Given the description of an element on the screen output the (x, y) to click on. 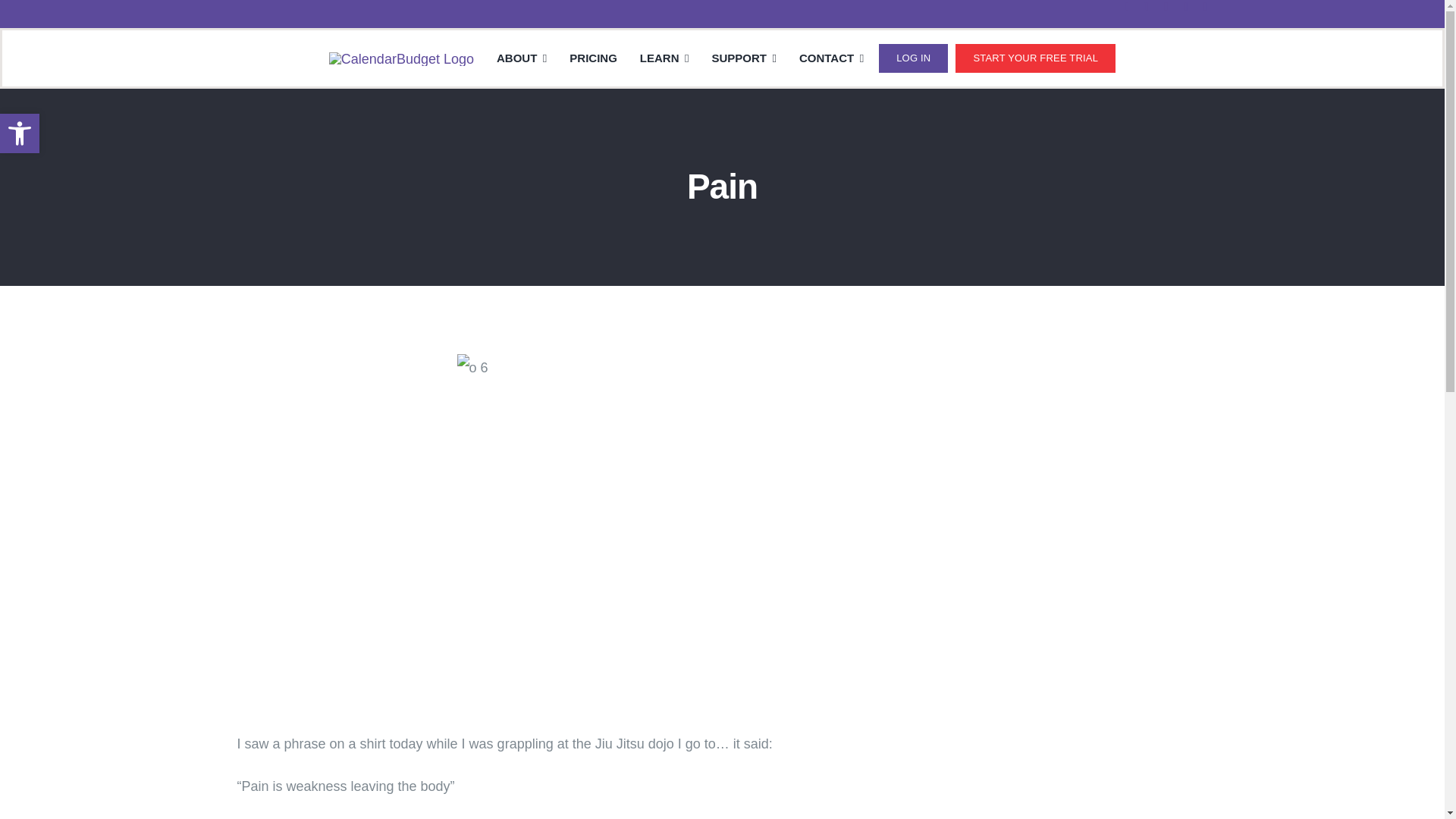
Log In (913, 58)
LEARN (664, 58)
SUPPORT (743, 58)
PRICING (593, 58)
Pain (401, 59)
Accessibility Tools (19, 133)
ABOUT (521, 58)
